Given the description of an element on the screen output the (x, y) to click on. 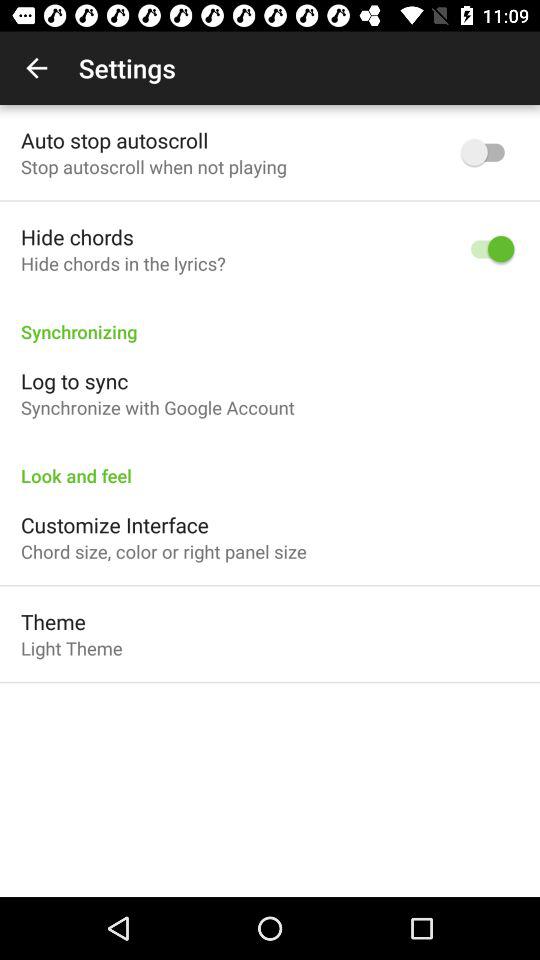
flip to the chord size color item (163, 551)
